Given the description of an element on the screen output the (x, y) to click on. 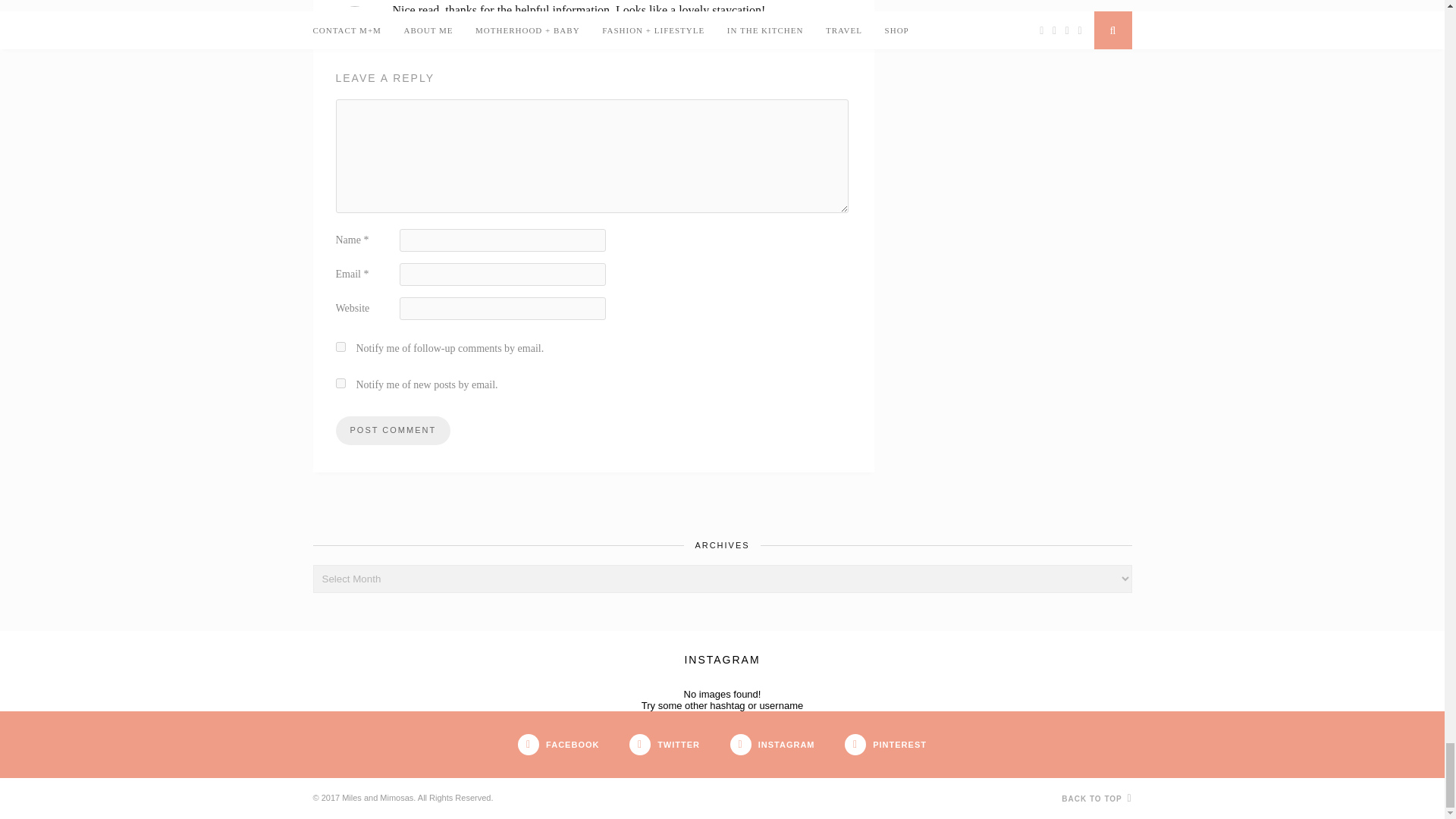
Post Comment (391, 430)
subscribe (339, 383)
subscribe (339, 347)
